Given the description of an element on the screen output the (x, y) to click on. 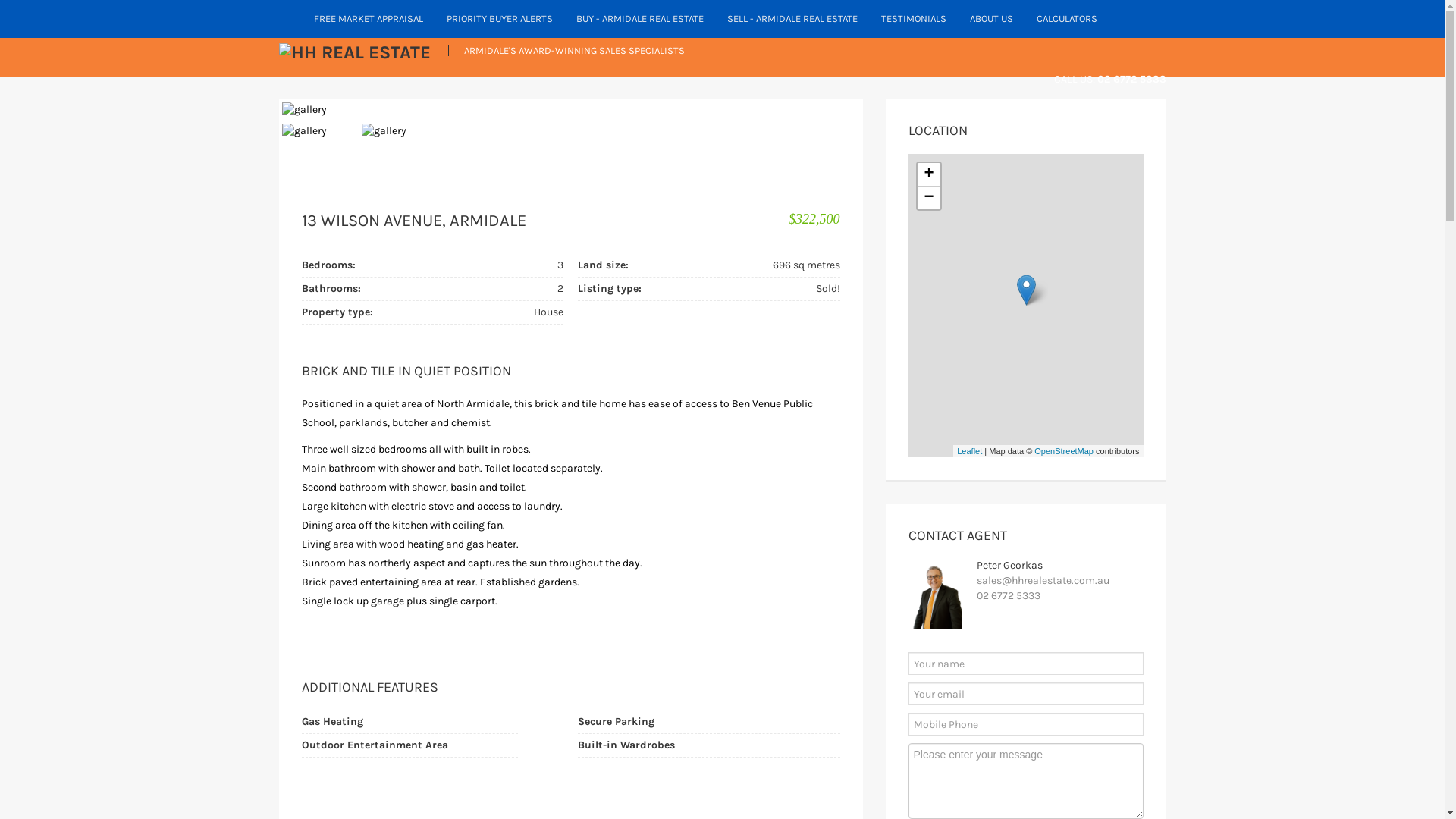
TESTIMONIALS Element type: text (913, 18)
02 6772 5333 Element type: text (1008, 595)
BUY - ARMIDALE REAL ESTATE Element type: text (639, 18)
+ Element type: text (928, 174)
OpenStreetMap Element type: text (1063, 450)
* Please provide valid phone number Element type: hover (1025, 723)
Leaflet Element type: text (969, 450)
PRIORITY BUYER ALERTS Element type: text (499, 18)
sales@hhrealestate.com.au Element type: text (1042, 580)
CALCULATORS Element type: text (1067, 18)
Peter Georkas Element type: text (1009, 564)
SELL - ARMIDALE REAL ESTATE Element type: text (792, 18)
ABOUT US Element type: text (991, 18)
FREE MARKET APPRAISAL Element type: text (367, 18)
